Given the description of an element on the screen output the (x, y) to click on. 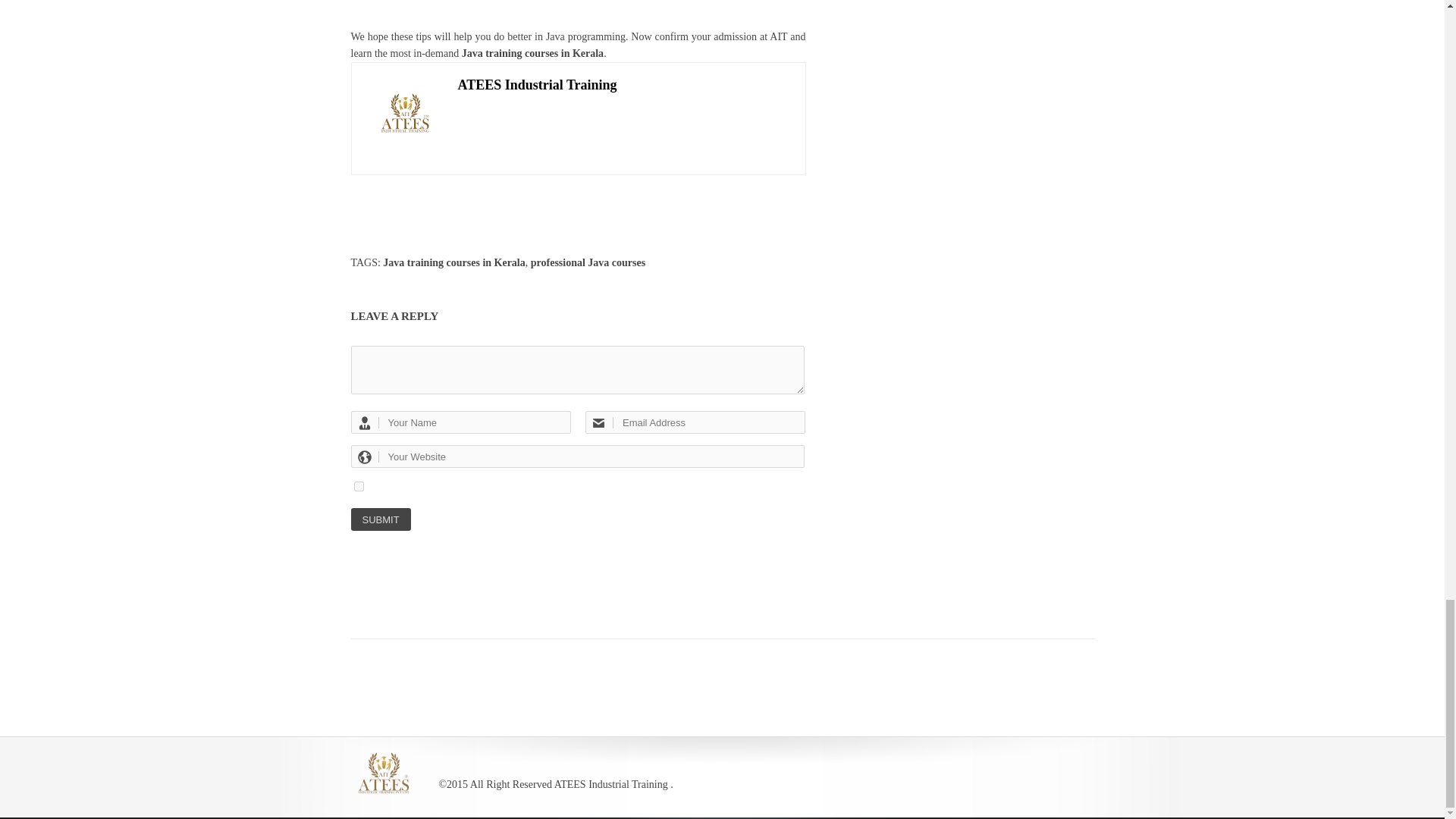
SUBMIT (380, 518)
professional Java courses (588, 262)
yes (357, 486)
Email Address (695, 422)
Java training courses in Kerala (453, 262)
Your Name (460, 422)
SUBMIT (380, 518)
Your Website (576, 456)
Java training courses in Kerala (532, 52)
ATEES Industrial Training (537, 84)
